Given the description of an element on the screen output the (x, y) to click on. 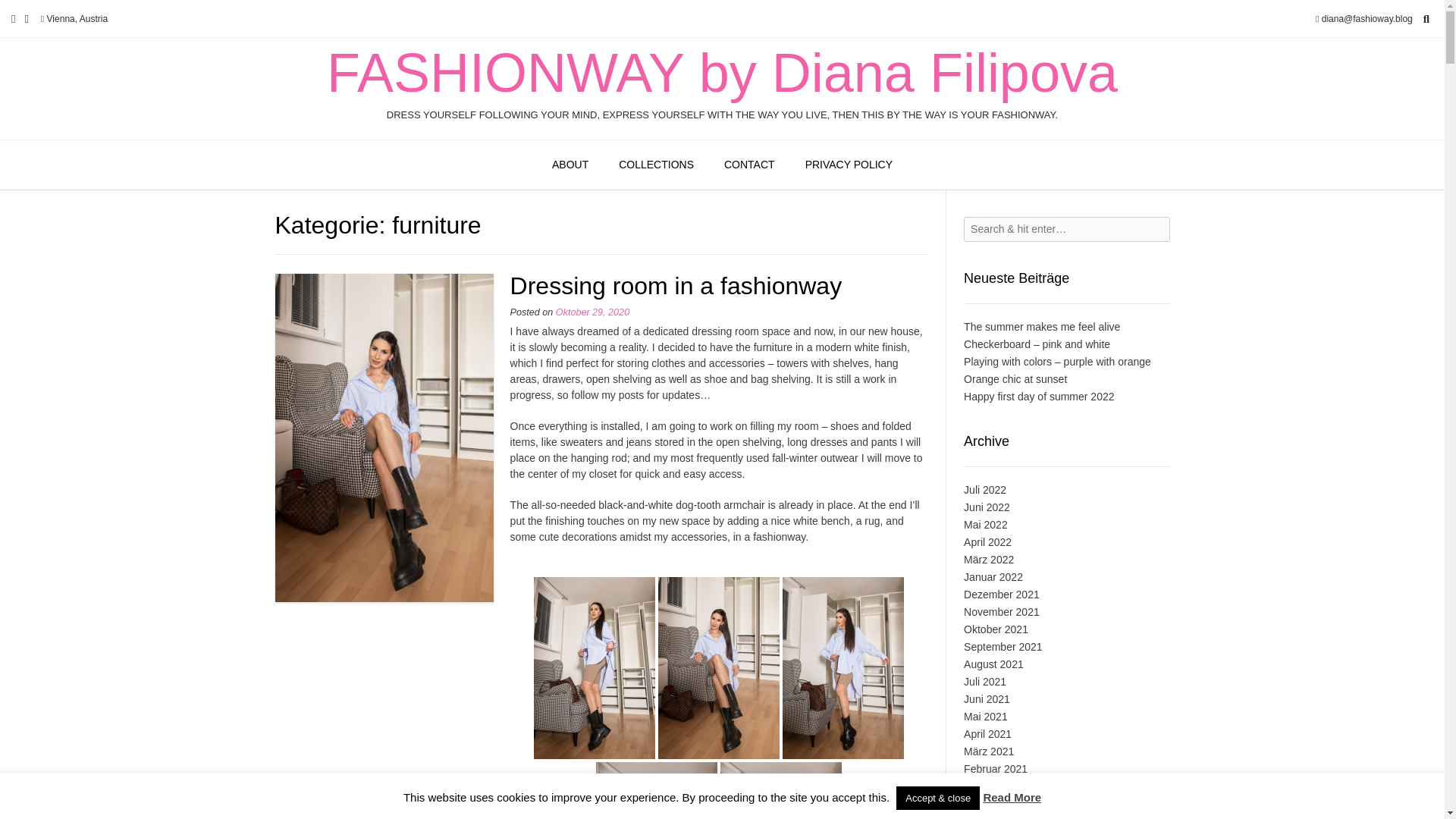
FASHIONWAY by Diana Filipova (722, 72)
Dressing room in a fashionway (677, 285)
CONTACT (749, 165)
Oktober 29, 2020 (592, 312)
PRIVACY POLICY (848, 165)
COLLECTIONS (656, 165)
ABOUT (570, 165)
CG7A1202 (780, 790)
FASHIONWAY by Diana Filipova (722, 72)
CG7A1206 (656, 790)
